Given the description of an element on the screen output the (x, y) to click on. 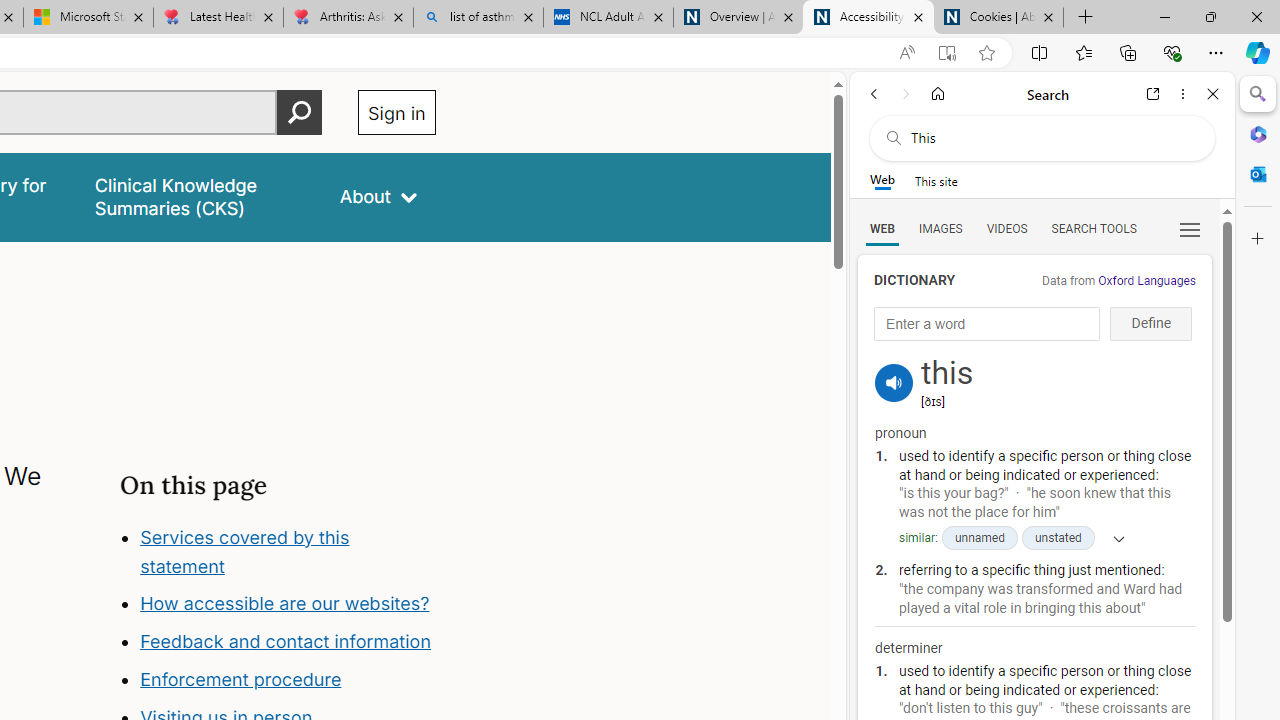
Accessibility | NICE (868, 17)
false (198, 196)
How accessible are our websites? (287, 604)
Enforcement procedure (240, 679)
Services covered by this statement (287, 551)
Enforcement procedure (287, 680)
